Given the description of an element on the screen output the (x, y) to click on. 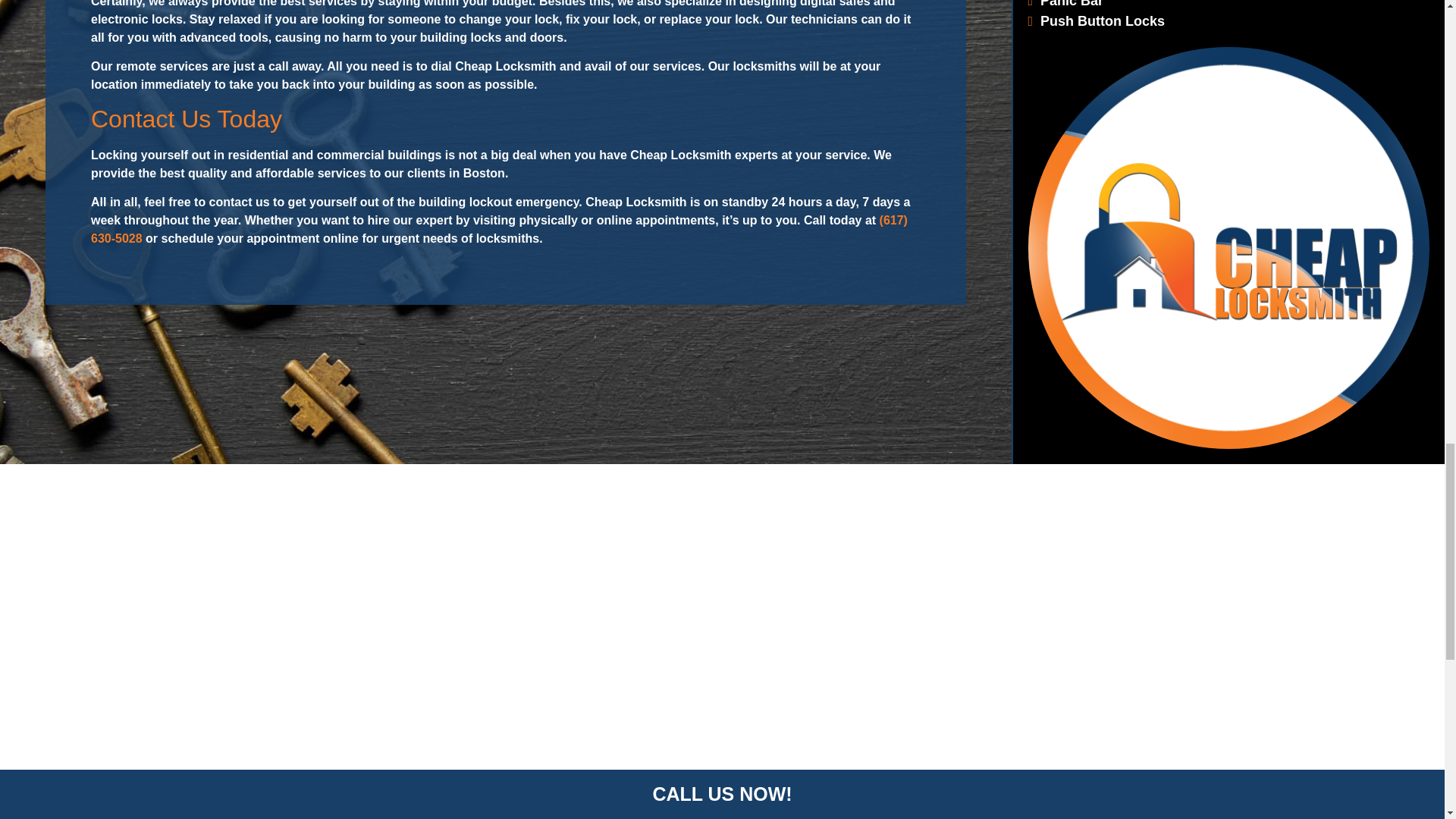
Push Button Locks (1096, 20)
Panic Bar (1065, 4)
